Given the description of an element on the screen output the (x, y) to click on. 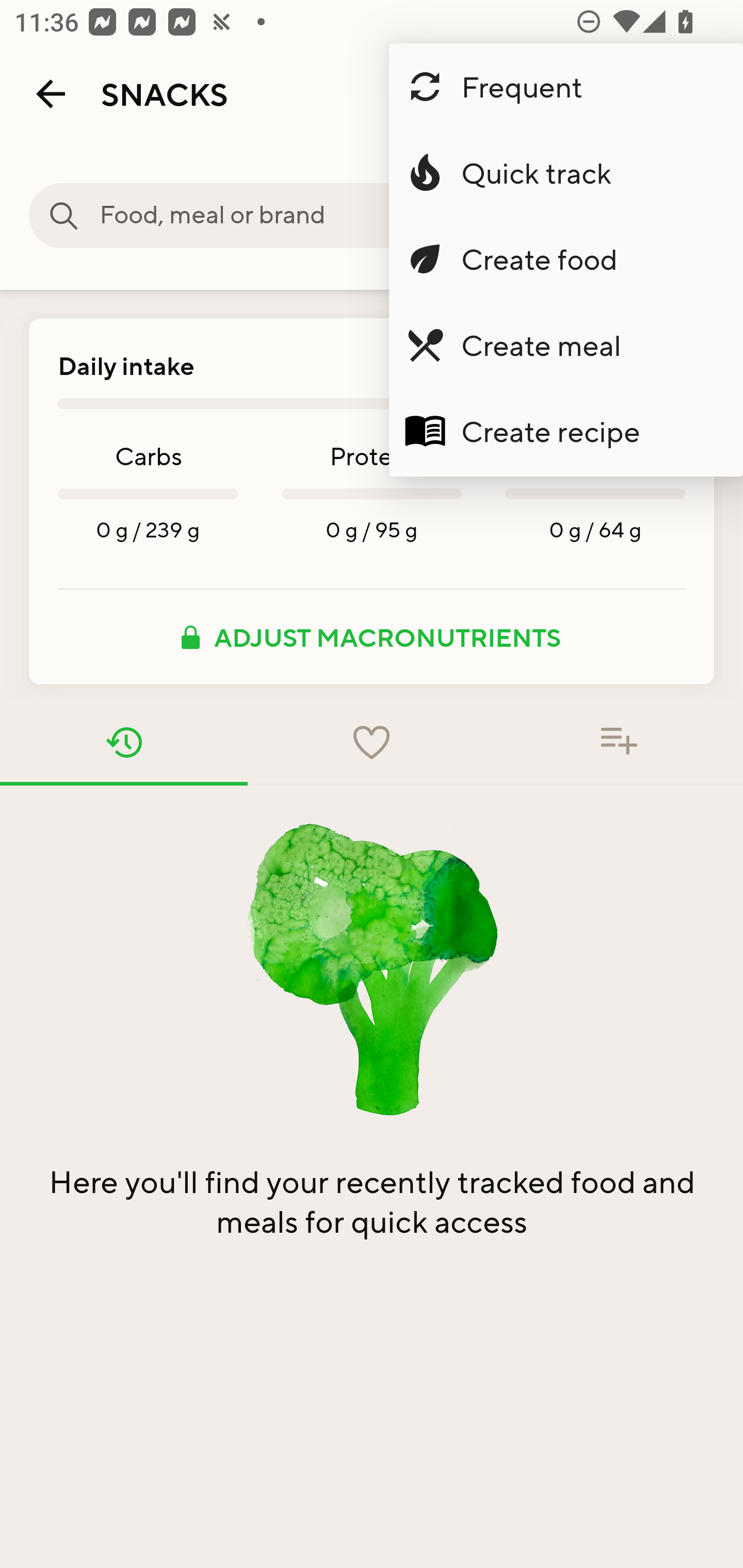
Frequent (566, 86)
Quick track (566, 173)
Create food (566, 259)
Create meal (566, 344)
Create recipe (566, 431)
